Given the description of an element on the screen output the (x, y) to click on. 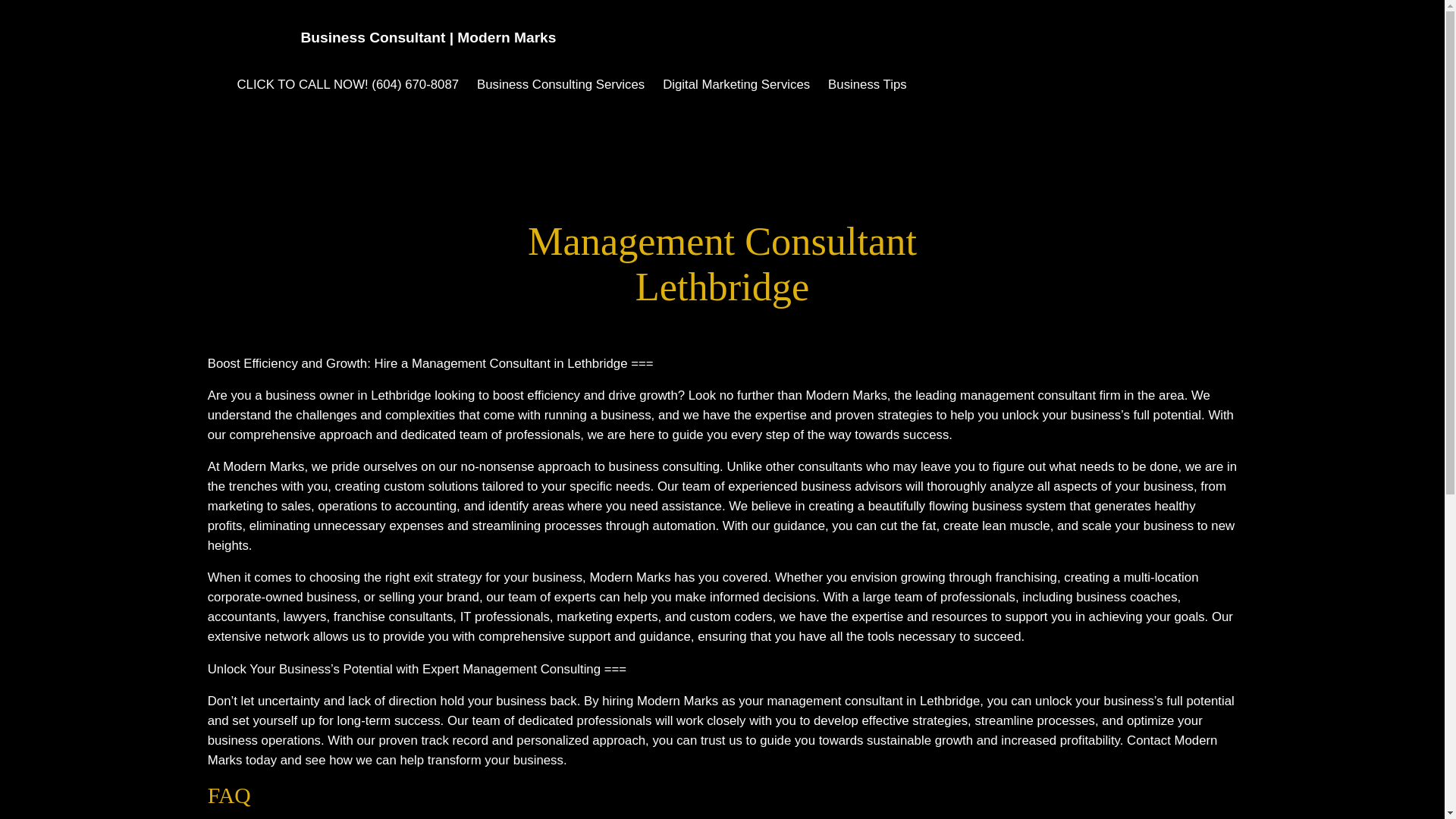
Digital Marketing Services (735, 85)
Business Tips (867, 85)
Business Consulting Services (561, 85)
